Given the description of an element on the screen output the (x, y) to click on. 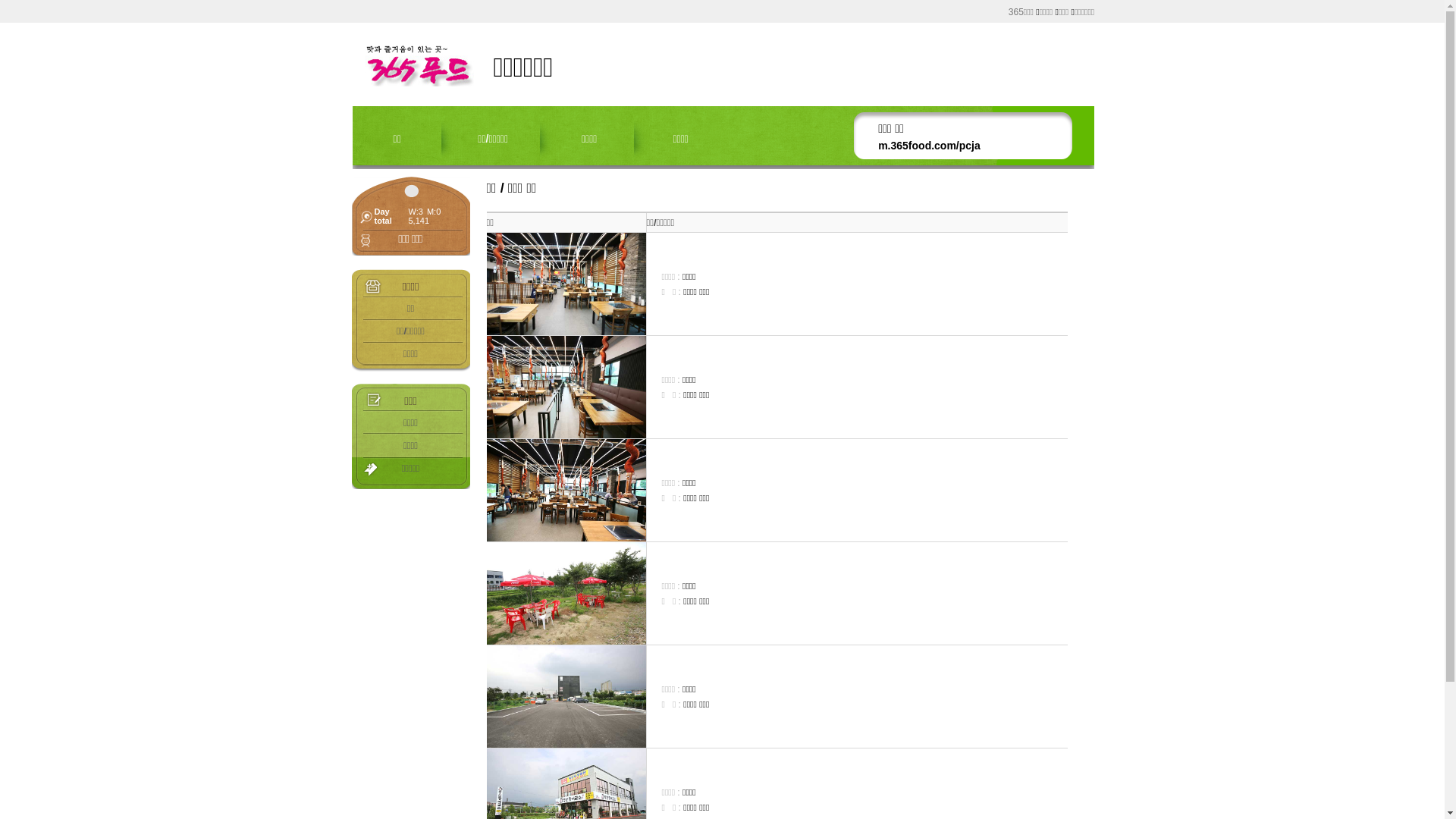
m.365food.com/pcja Element type: text (929, 145)
